Given the description of an element on the screen output the (x, y) to click on. 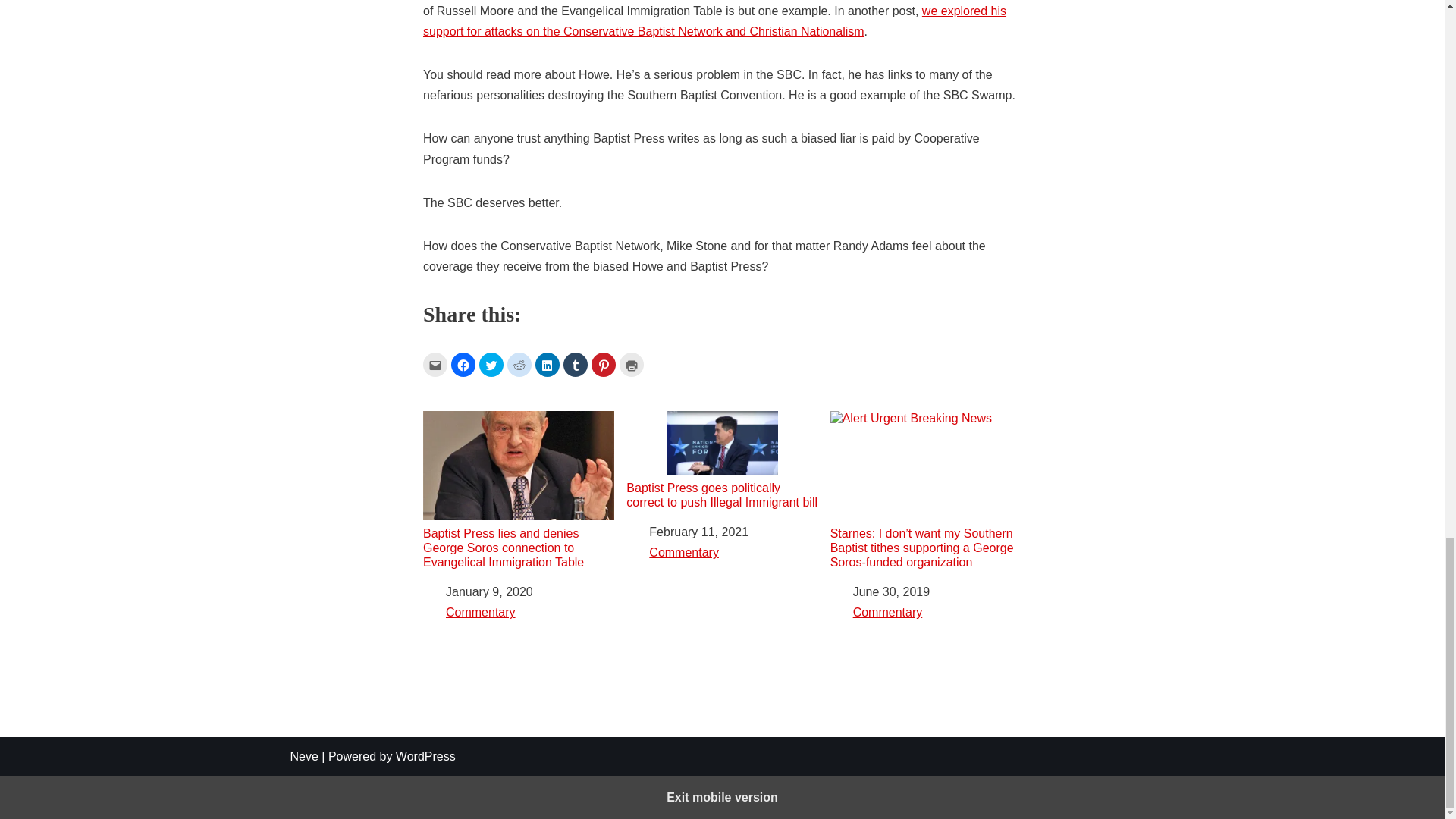
Commentary (480, 612)
Click to share on Twitter (491, 364)
Click to share on Reddit (518, 364)
Commentary (684, 552)
Click to share on Email (434, 364)
Click to share on LinkedIn (547, 364)
WordPress (425, 756)
Click to share on Pinterest (603, 364)
Click to share on Tumblr (575, 364)
